Given the description of an element on the screen output the (x, y) to click on. 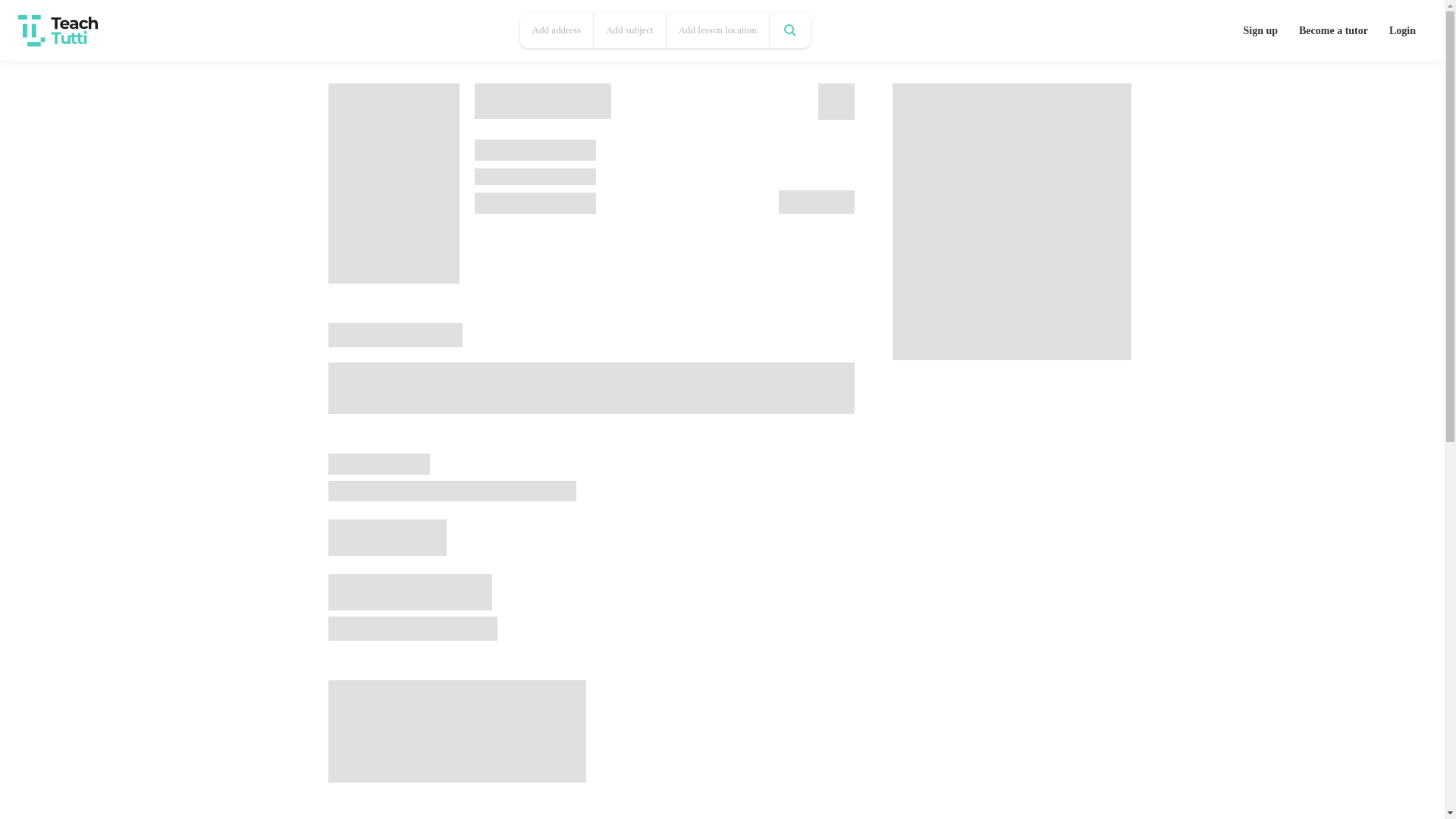
Become a tutor (1333, 29)
TeachTutti (57, 33)
